Given the description of an element on the screen output the (x, y) to click on. 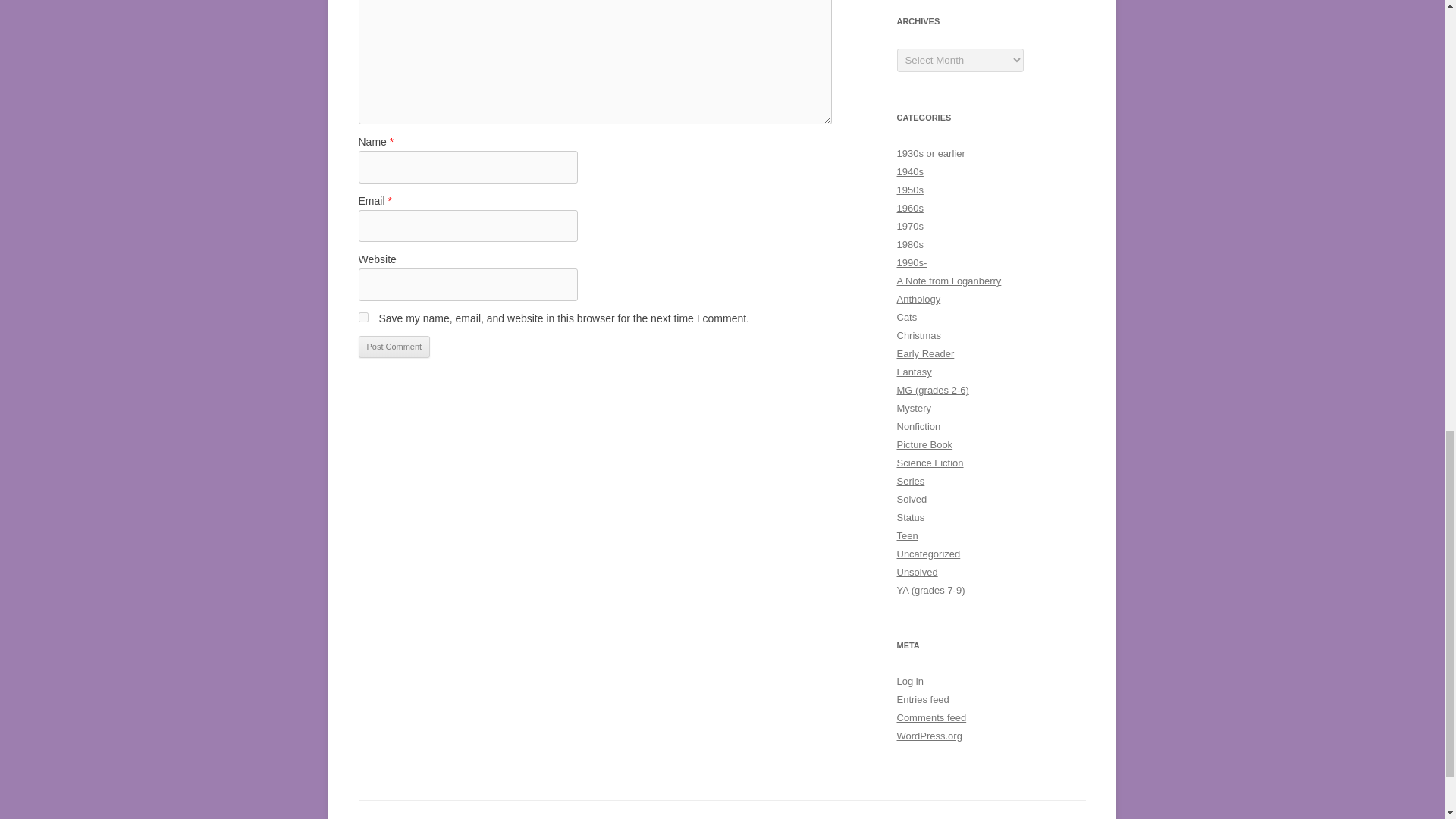
Post Comment (393, 346)
yes (363, 317)
1930s or earlier (929, 153)
1940s (909, 171)
Post Comment (393, 346)
